Given the description of an element on the screen output the (x, y) to click on. 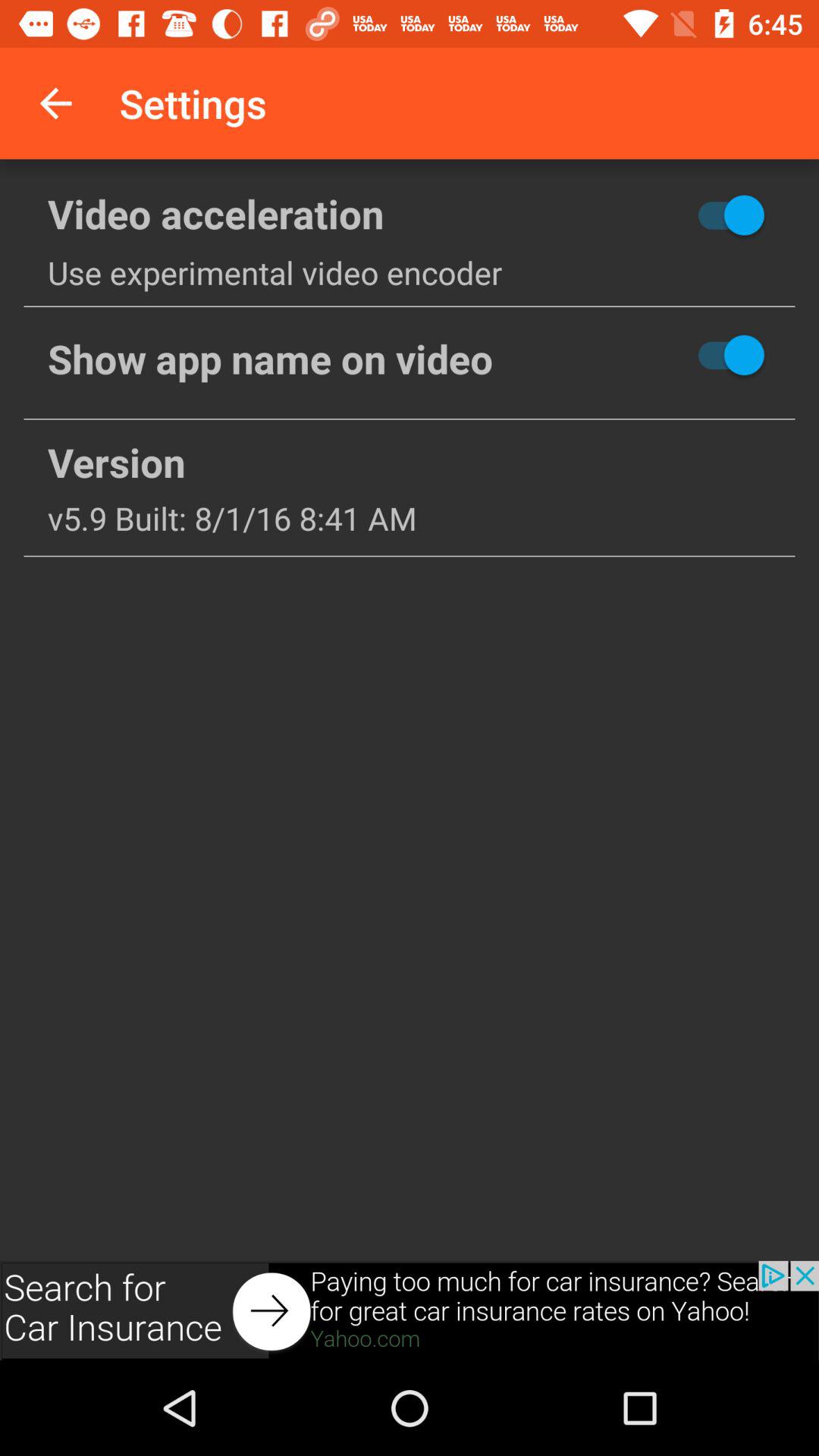
advertisement page (409, 1310)
